Given the description of an element on the screen output the (x, y) to click on. 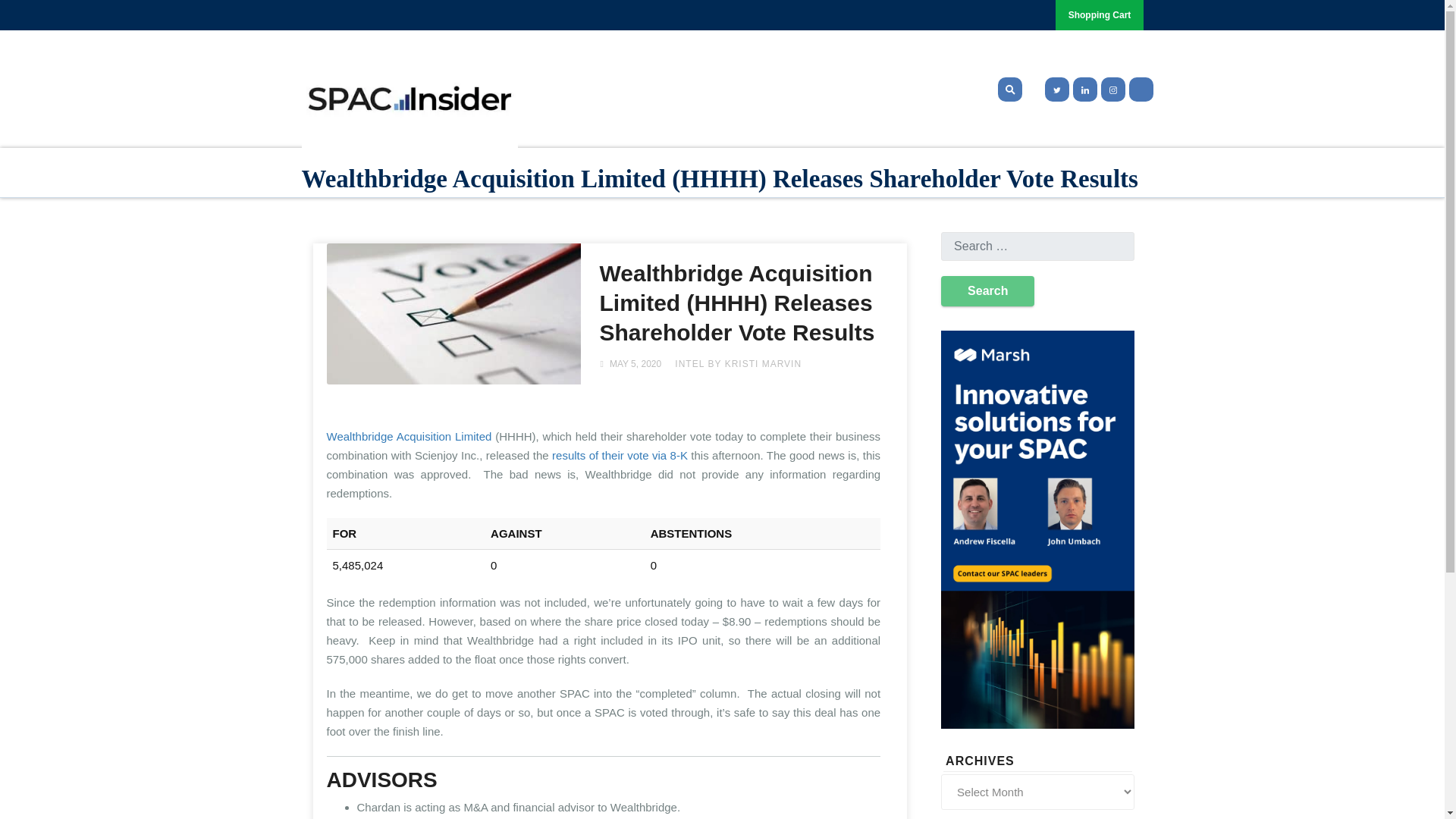
INTEL (689, 363)
LinkedIn (1083, 88)
Twitter (1054, 88)
BY KRISTI MARVIN (754, 363)
Search (986, 291)
Apple Podcasts (1140, 88)
Instagram (1112, 88)
Shopping Cart (1098, 15)
Wealthbridge Acquisition Limited (409, 436)
results of their vote via 8-K (619, 454)
